Given the description of an element on the screen output the (x, y) to click on. 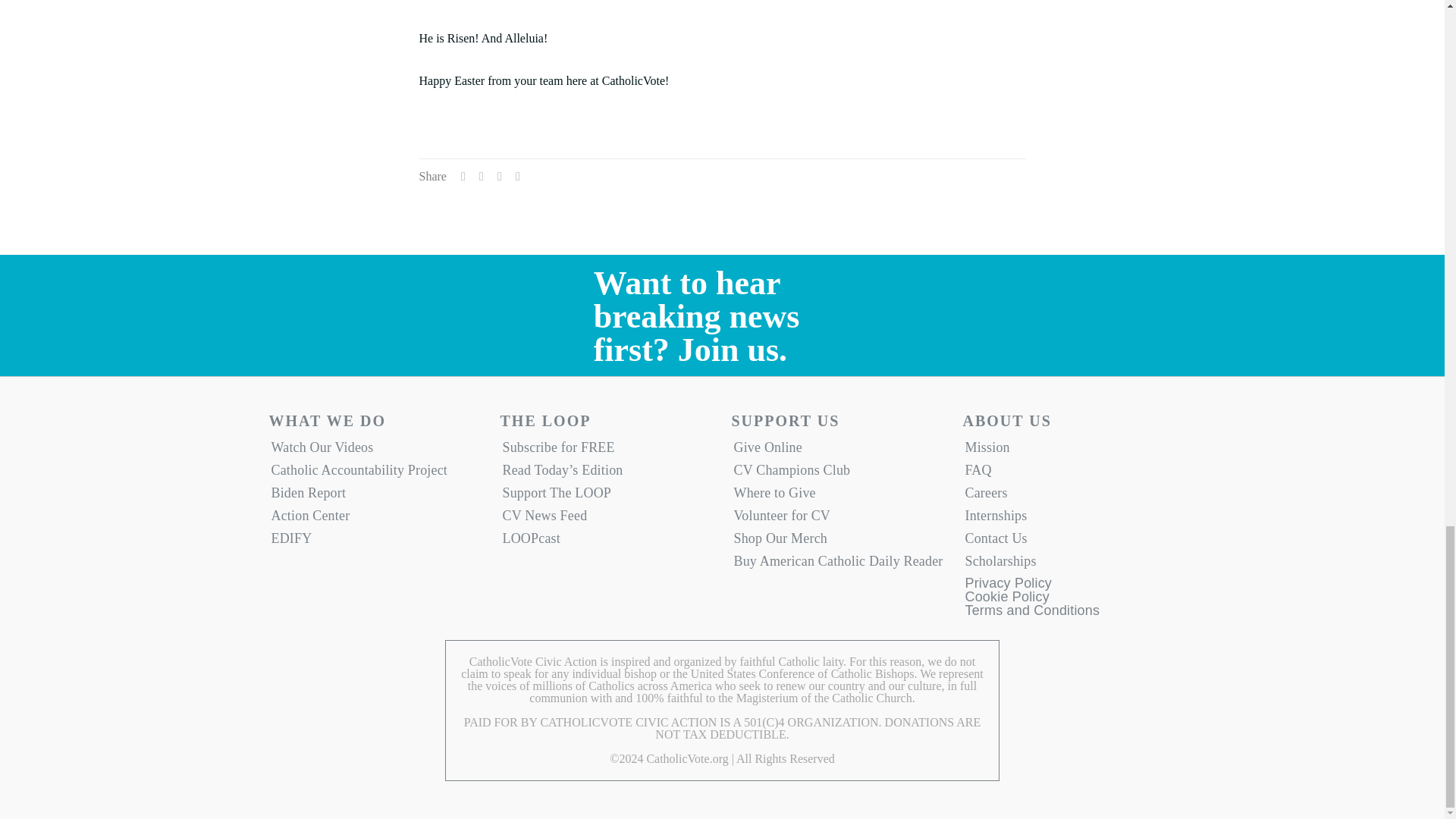
Watch Our Videos (374, 450)
Biden Report (374, 496)
Give Online (836, 450)
EDIFY (374, 541)
Action Center (374, 518)
Where to Give (836, 496)
CV Champions Club (836, 473)
LOOPcast (606, 541)
Subscribe for FREE (606, 450)
Mission (1069, 450)
Cookie Policy  (1005, 600)
Catholic Accountability Project (374, 473)
Support The LOOP (606, 496)
CV News Feed (606, 518)
Careers (1069, 496)
